Given the description of an element on the screen output the (x, y) to click on. 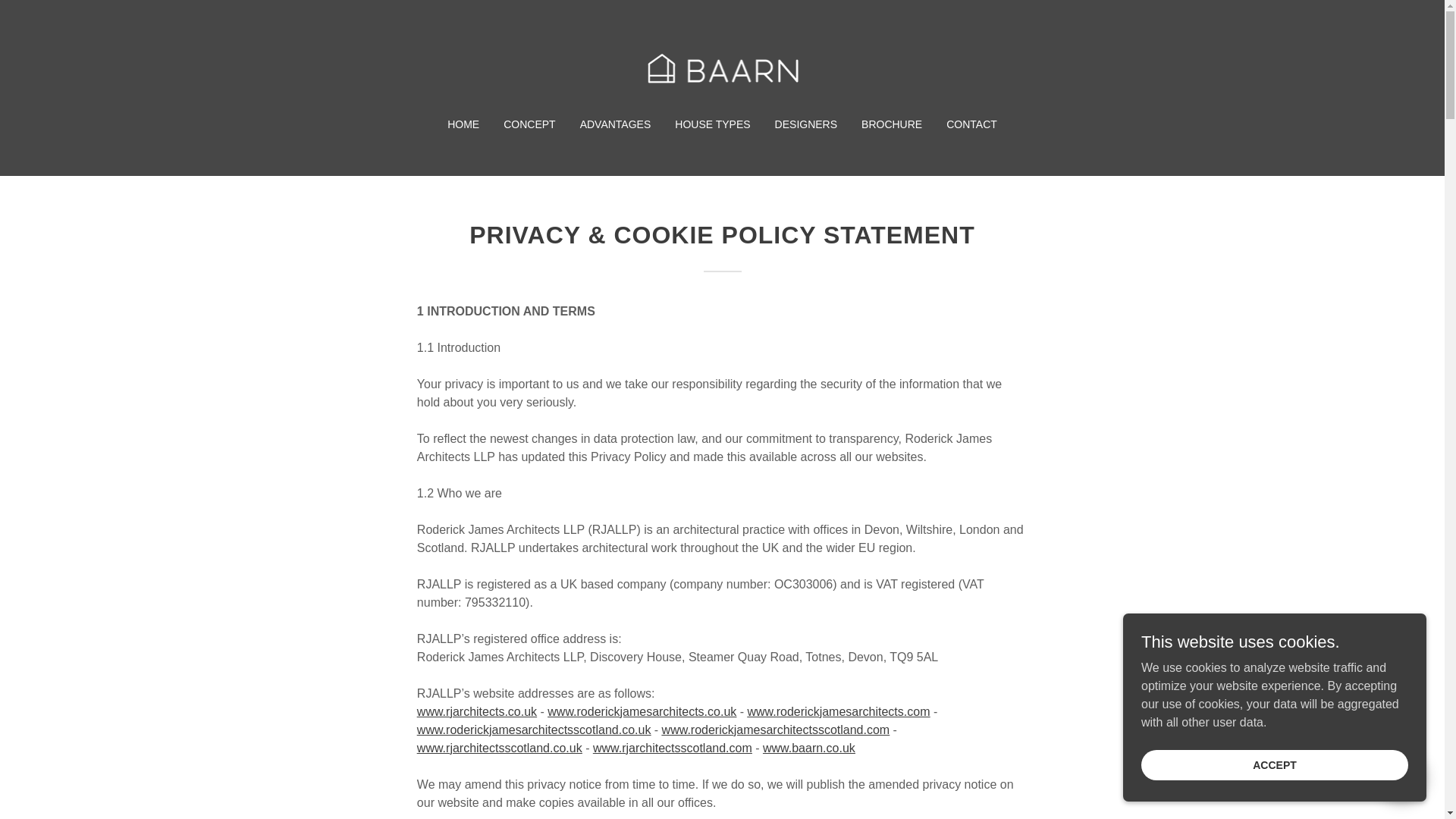
www.rjarchitectsscotland.com (672, 748)
www.baarn.co.uk (809, 748)
BROCHURE (891, 124)
www.roderickjamesarchitects.com (839, 711)
www.roderickjamesarchitectsscotland.co.uk (533, 729)
CONCEPT (529, 124)
www.rjarchitects.co.uk (476, 711)
Baarn Kit Houses (722, 68)
www.rjarchitectsscotland.co.uk (499, 748)
www.roderickjamesarchitectsscotland.com (775, 729)
HOME (462, 124)
CONTACT (971, 124)
www.roderickjamesarchitects.co.uk (641, 711)
DESIGNERS (805, 124)
HOUSE TYPES (711, 124)
